Given the description of an element on the screen output the (x, y) to click on. 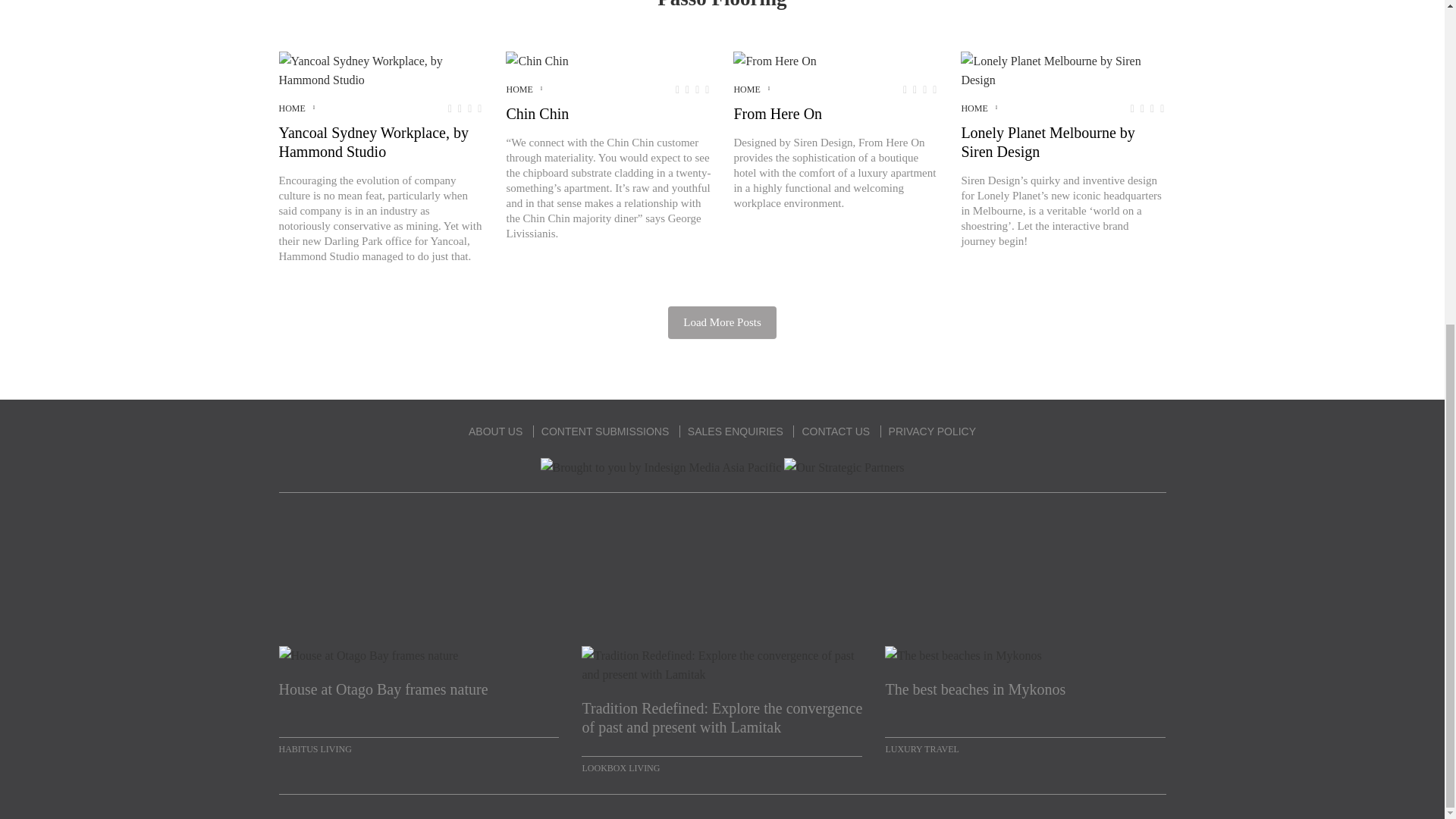
From Here On (774, 60)
The best beaches in Mykonos (1025, 699)
Lonely Planet Melbourne by Siren Design (1063, 70)
Yancoal Sydney Workplace, by Hammond Studio (381, 70)
Brought to you by Indesign Media Asia Pacific (660, 466)
Chin Chin (536, 60)
Our Strategic Partners (844, 466)
House at Otago Bay frames nature (419, 699)
